Given the description of an element on the screen output the (x, y) to click on. 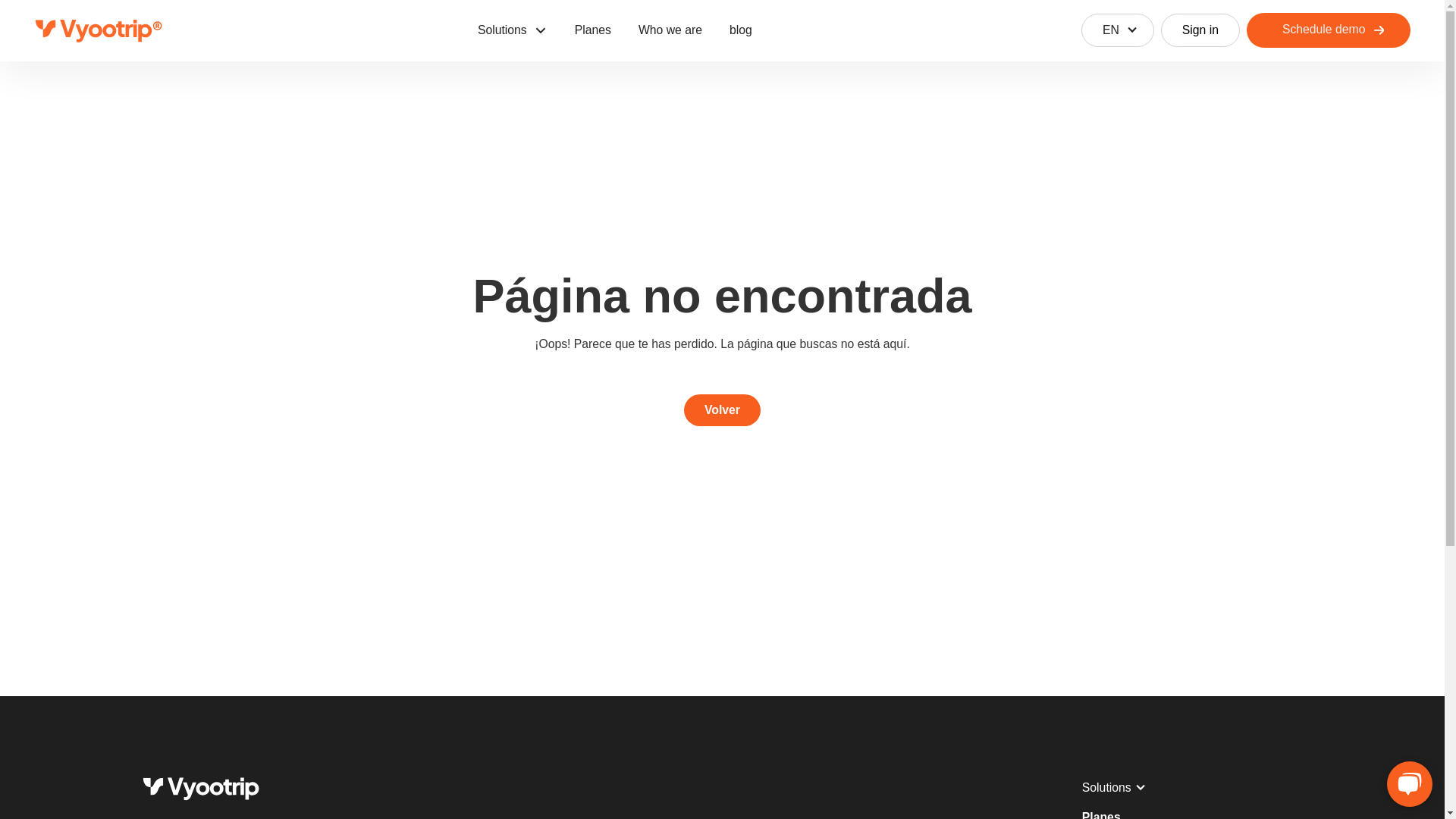
Sign in (1200, 30)
Who we are (670, 30)
blog (740, 30)
Planes (1101, 810)
Volver (722, 409)
Planes (592, 30)
Schedule demo (1328, 29)
